Given the description of an element on the screen output the (x, y) to click on. 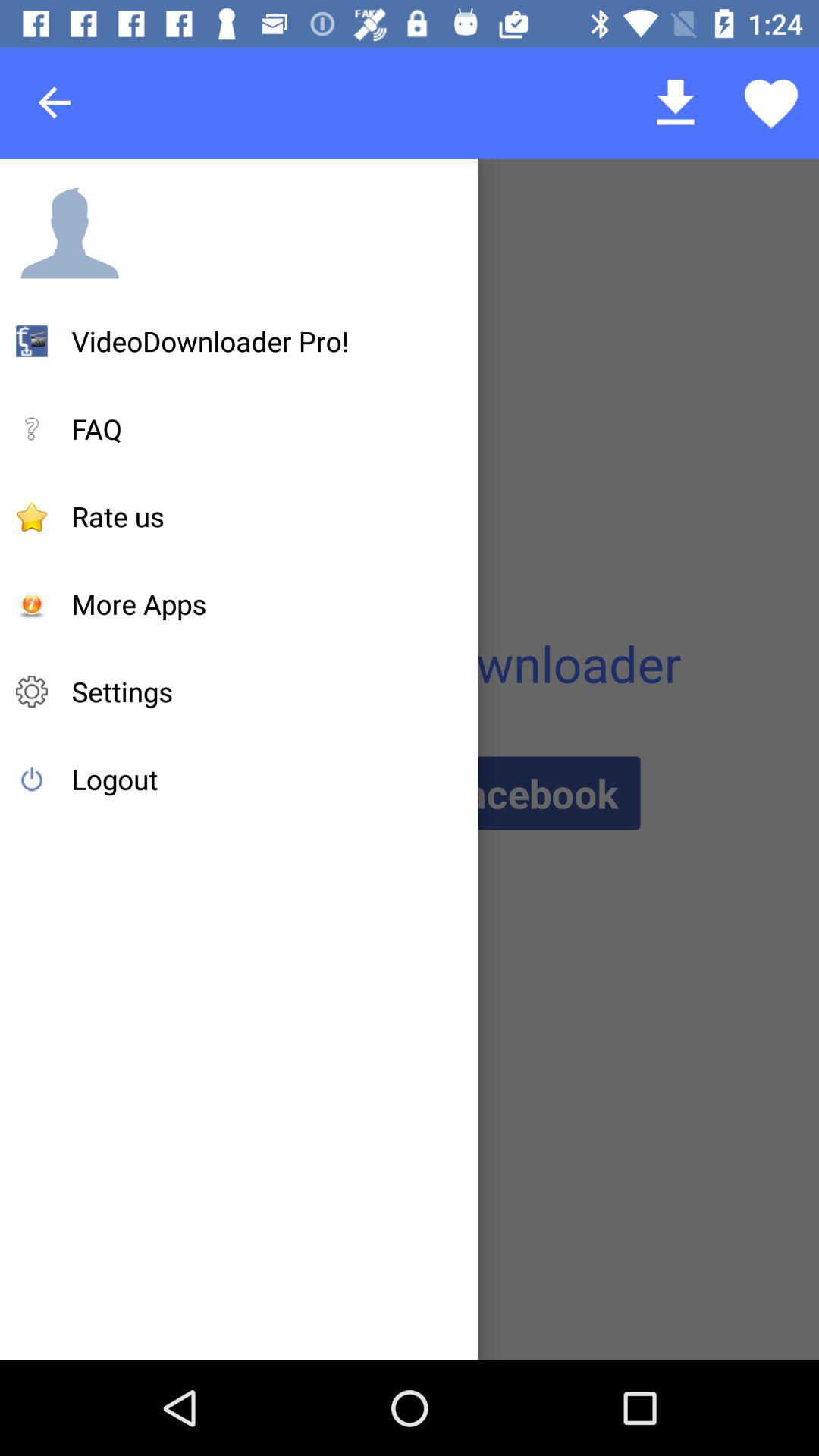
select item next to logout icon (409, 792)
